Given the description of an element on the screen output the (x, y) to click on. 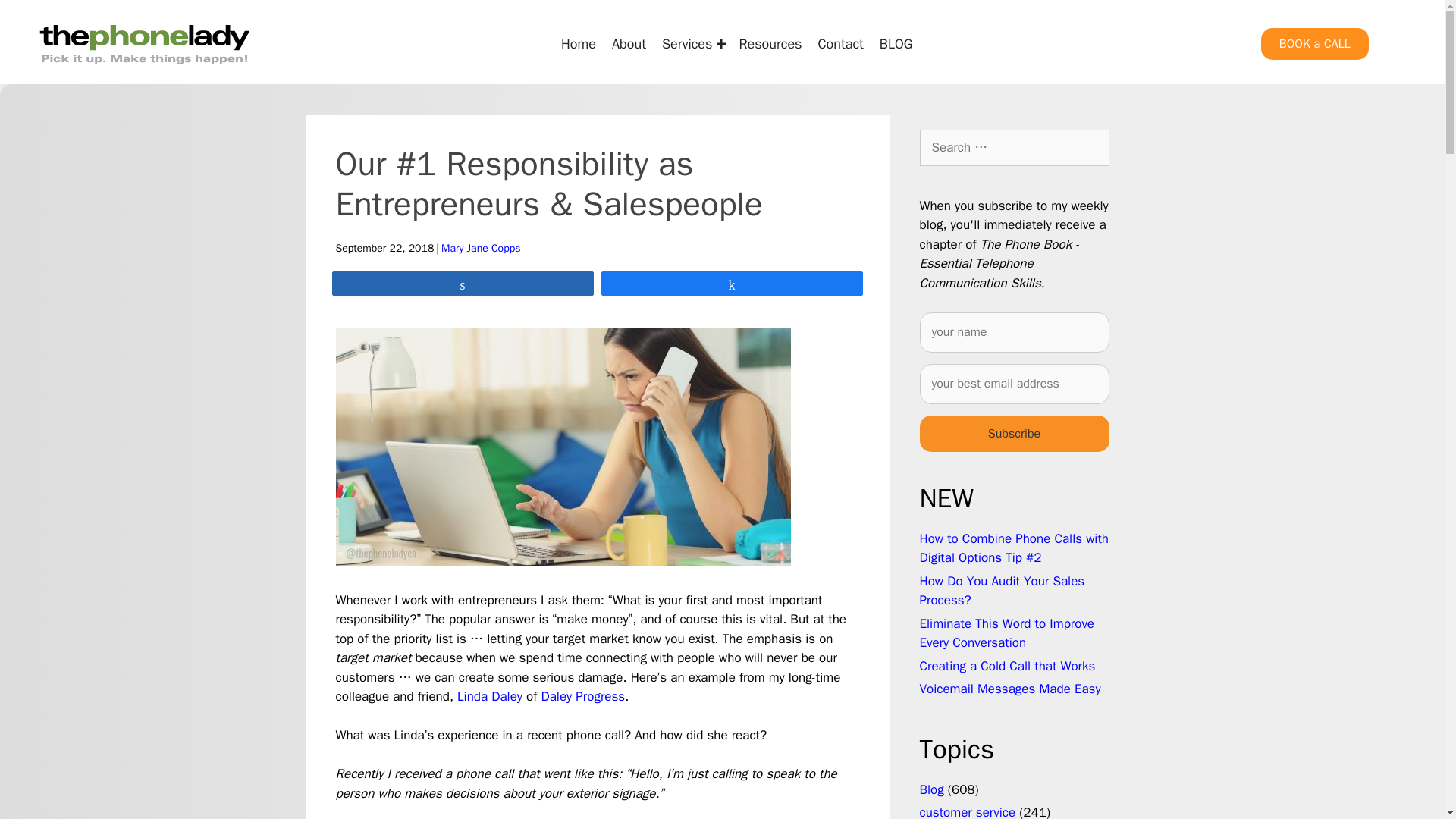
About (628, 43)
BLOG (896, 43)
BOOK a CALL (1314, 43)
Linda Daley (489, 696)
Home (578, 43)
Services (691, 43)
Contact (839, 43)
Daley Progress (582, 696)
Resources (769, 43)
Search for: (1013, 147)
Mary Jane Copps (481, 247)
